Given the description of an element on the screen output the (x, y) to click on. 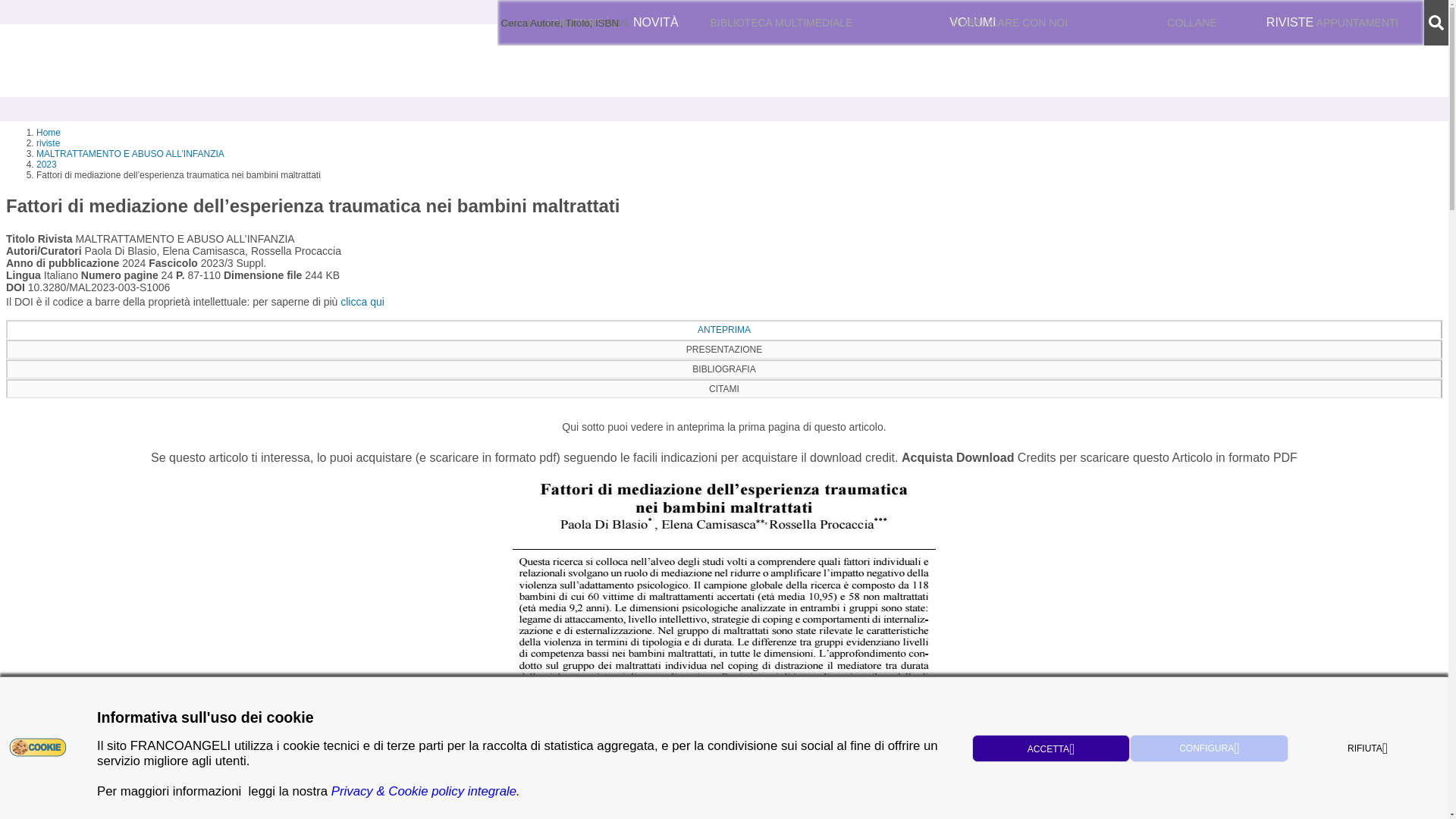
PUBBLICARE CON NOI (1010, 22)
chi siamo (525, 22)
Accedi (1230, 22)
Ricerca Avanzata (567, 22)
BIBLIOTECA MULTIMEDIALE (781, 22)
ENG (1152, 22)
CookieMan BY ML informatica (37, 746)
Preferiti (1315, 22)
aiuto (619, 22)
COLLANE (1192, 22)
contatti (577, 22)
